Given the description of an element on the screen output the (x, y) to click on. 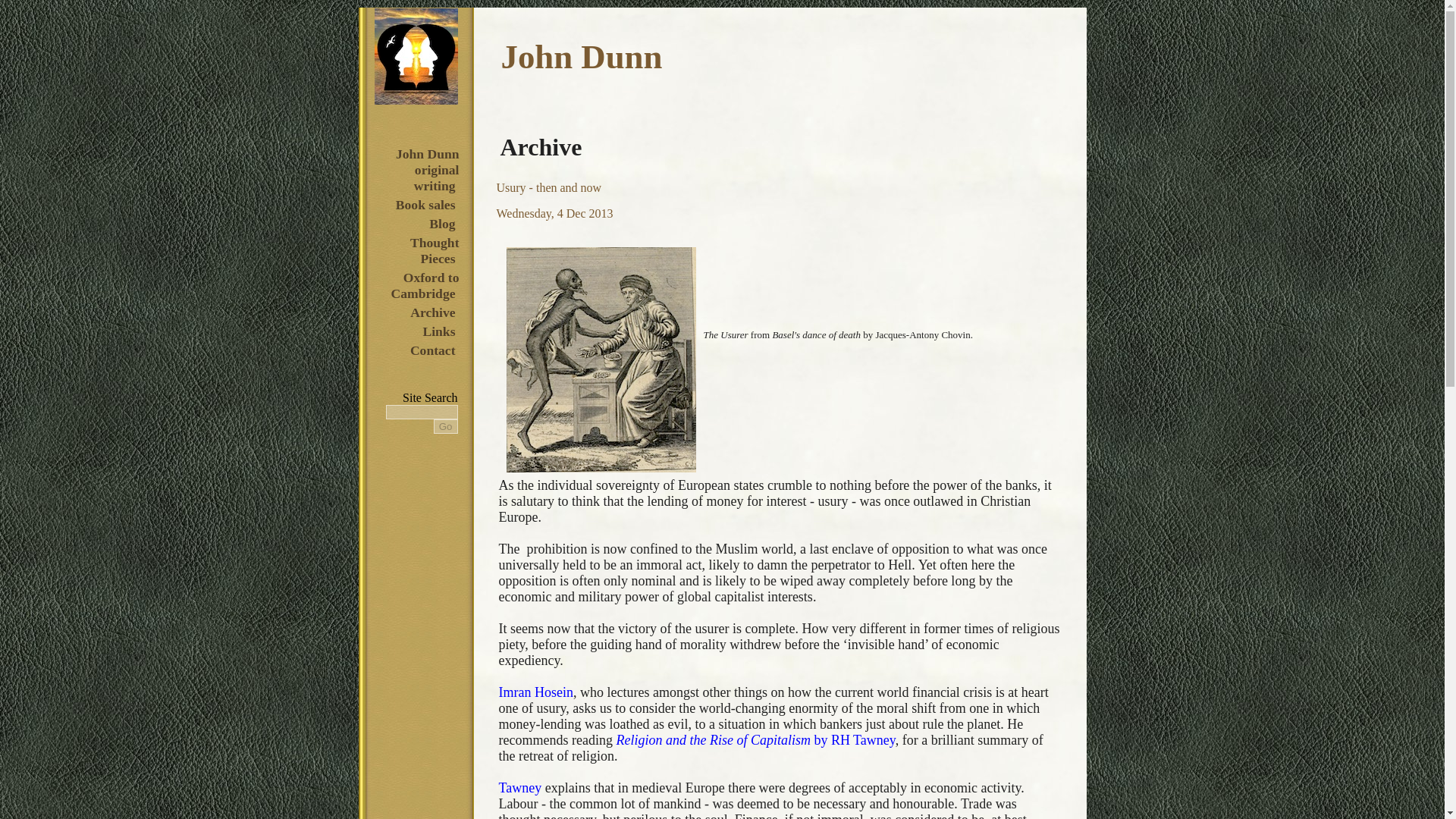
Thought Pieces (433, 250)
Blog (441, 223)
Book sales (425, 204)
Go (445, 426)
Imran Hosein (536, 692)
Oxford to Cambridge (424, 285)
Links (438, 331)
John Dunn original writing (425, 169)
Go (445, 426)
Go (445, 426)
